Given the description of an element on the screen output the (x, y) to click on. 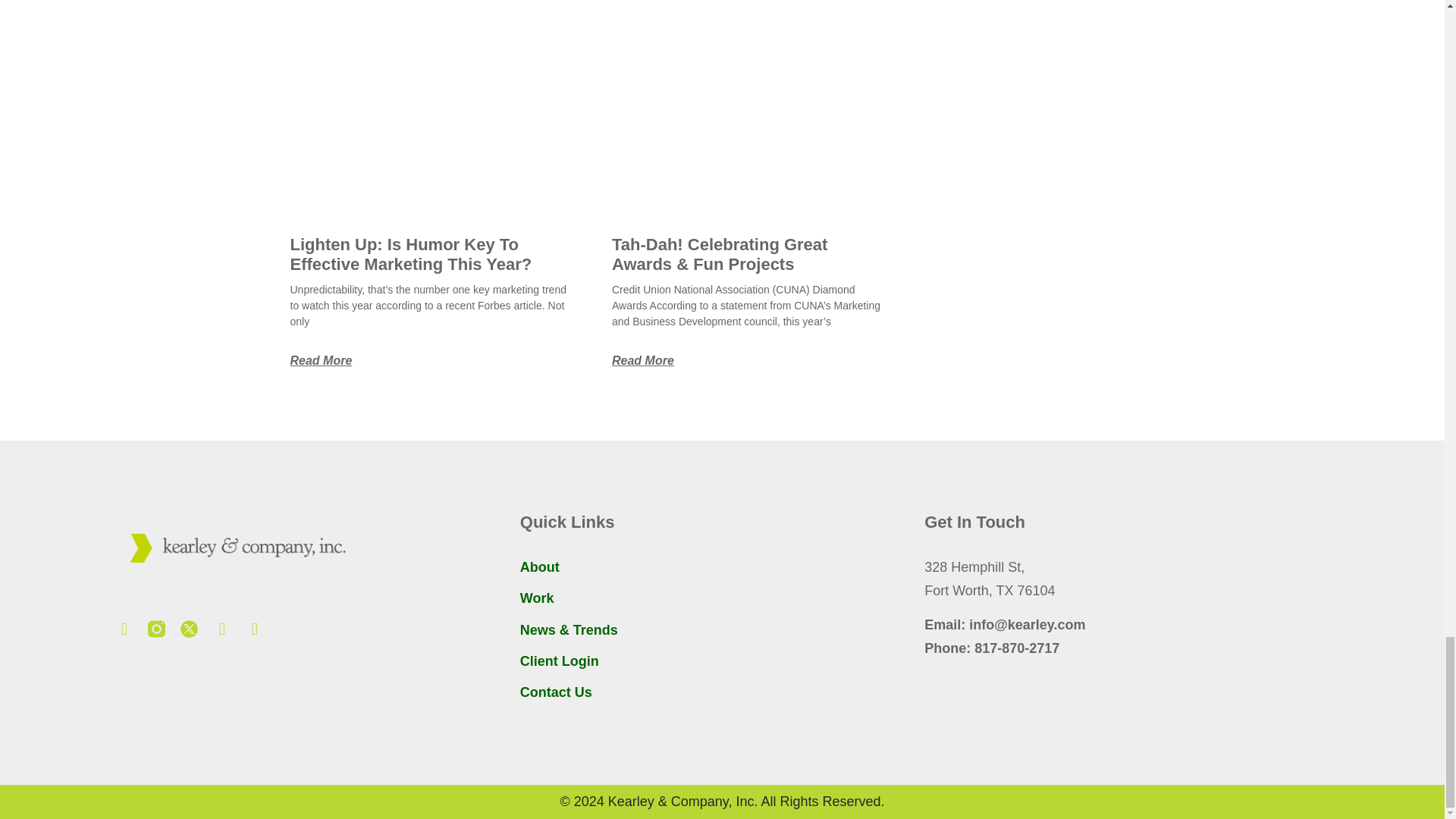
Client Login (558, 661)
Lighten Up: Is Humor Key To Effective Marketing This Year? (410, 254)
Contact Us (555, 692)
Work (536, 598)
Phone: 817-870-2717 (1125, 648)
About (539, 566)
Read More (642, 359)
Read More (320, 359)
